Given the description of an element on the screen output the (x, y) to click on. 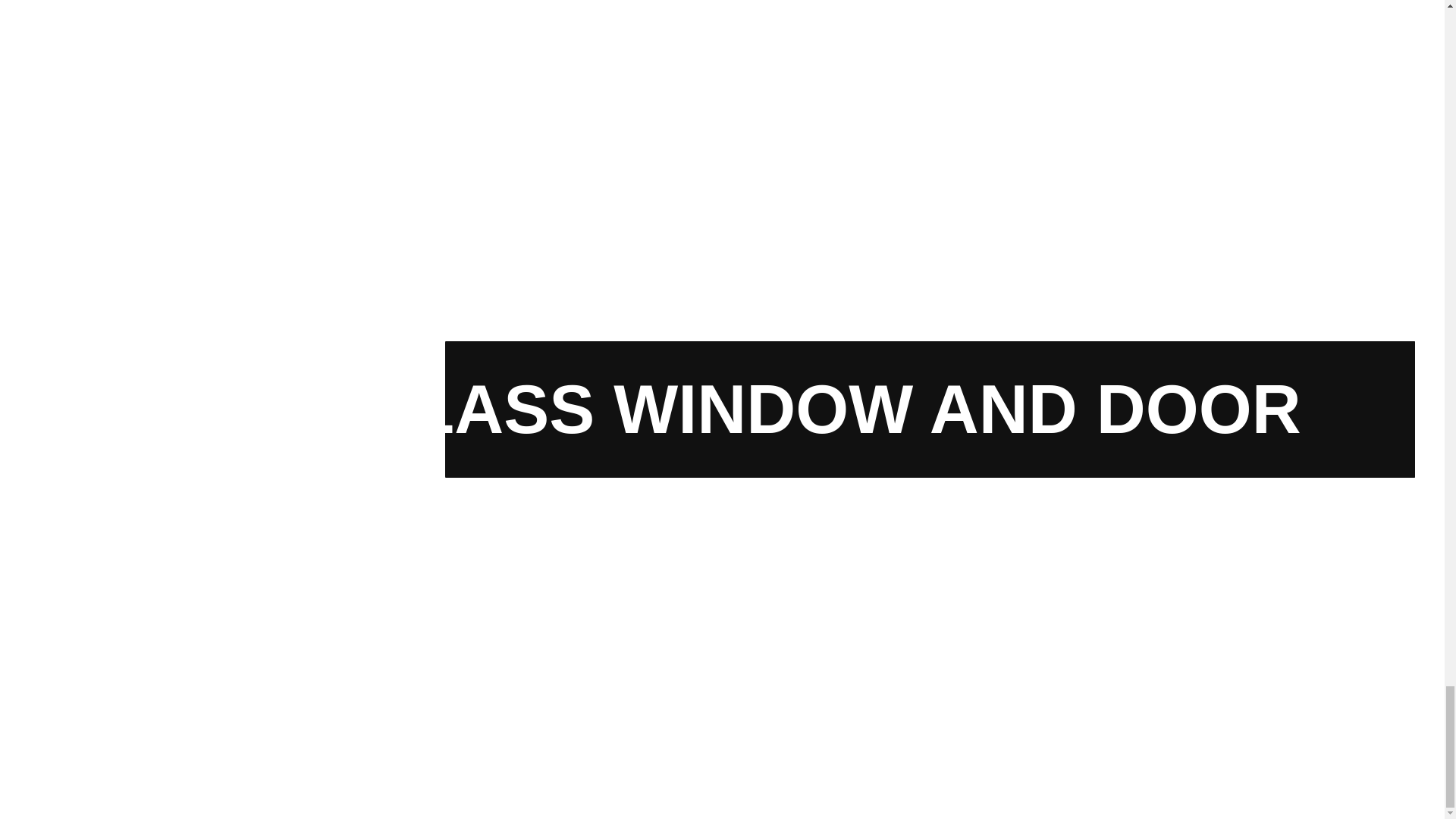
Doors (605, 617)
Insights (609, 647)
Why First Glass (631, 558)
Windows (613, 587)
